Given the description of an element on the screen output the (x, y) to click on. 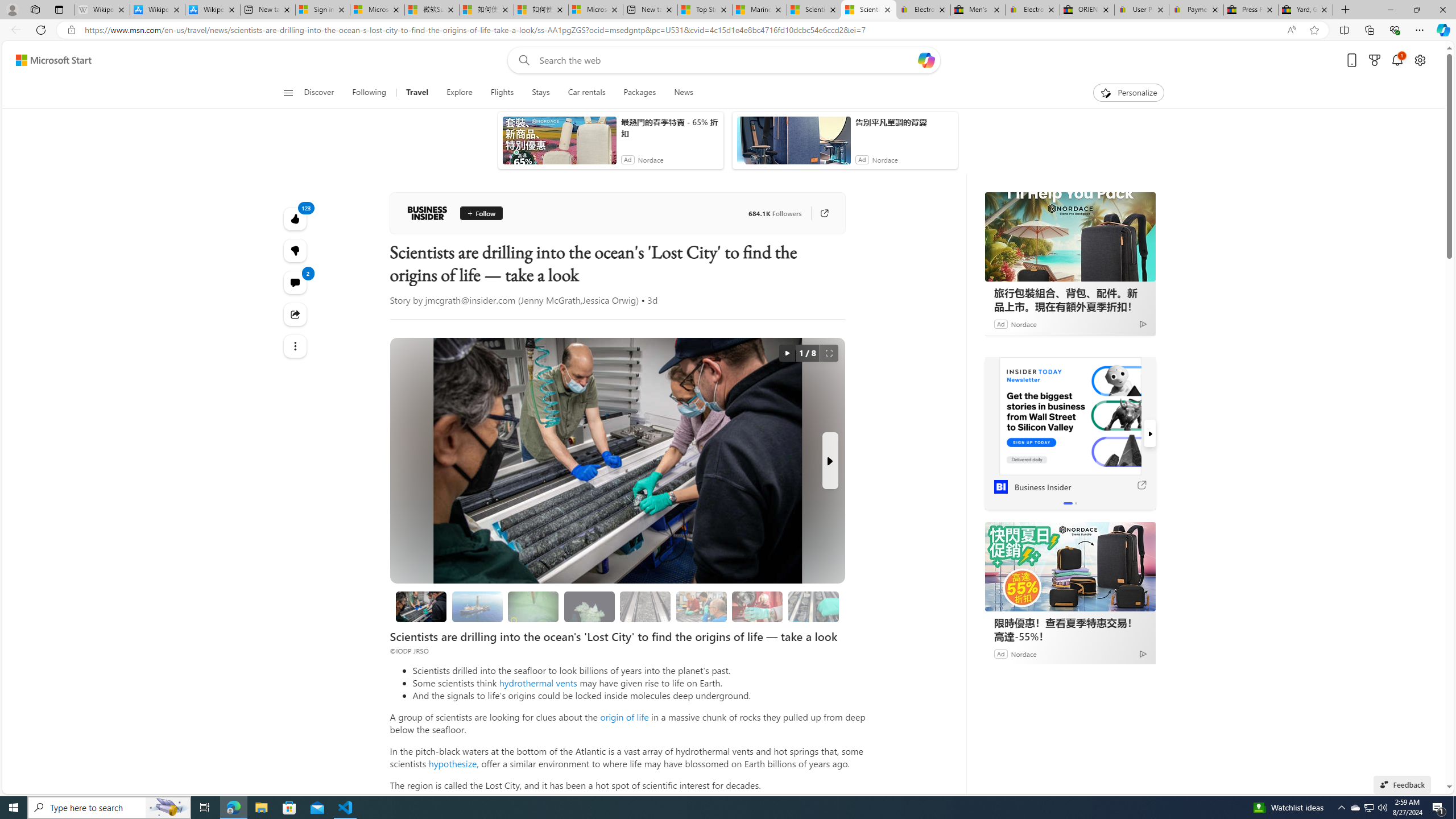
Business Insider (427, 213)
Flights (501, 92)
Packages (639, 92)
Explore (458, 92)
